Given the description of an element on the screen output the (x, y) to click on. 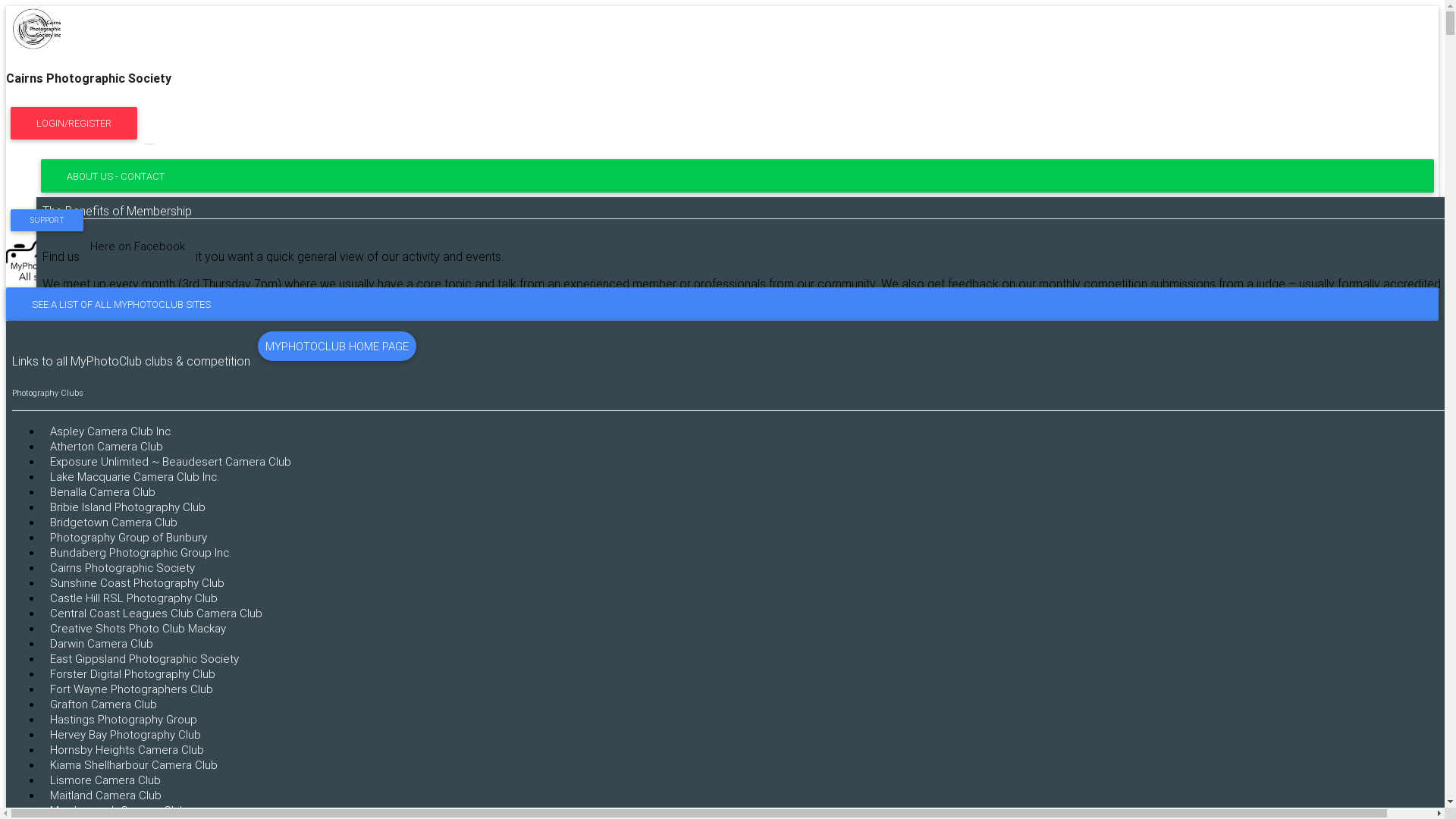
SEE A LIST OF ALL MYPHOTOCLUB SITES Element type: text (722, 279)
email: riamrry@me.com Element type: text (110, 501)
Cairns Photographic Society Element type: text (722, 108)
MYPHOTOCLUB HOME PAGE Element type: text (336, 345)
Maitland Camera Club Element type: text (105, 794)
Fort Wayne Photographers Club Element type: text (131, 688)
Grafton Camera Club Element type: text (103, 703)
Photography Group of Bunbury Element type: text (128, 537)
email: cps2021secretary@gmail.com Element type: text (143, 438)
Forster Digital Photography Club Element type: text (132, 673)
Lismore Camera Club Element type: text (105, 779)
Benalla Camera Club Element type: text (102, 491)
Darwin Camera Club Element type: text (101, 643)
email: corinne.bramwell@gmail.com Element type: text (141, 564)
Bribie Island Photography Club Element type: text (127, 506)
Atherton Camera Club Element type: text (106, 446)
Bundaberg Photographic Group Inc. Element type: text (140, 552)
ABOUT US - CONTACT Element type: text (737, 175)
Lake Macquarie Camera Club Inc. Element type: text (134, 476)
Exposure Unlimited ~ Beaudesert Camera Club Element type: text (170, 461)
Hervey Bay Photography Club Element type: text (125, 734)
Central Coast Leagues Club Camera Club Element type: text (155, 612)
Creative Shots Photo Club Mackay Element type: text (137, 628)
Sunshine Coast Photography Club Element type: text (137, 582)
email: rob.e.mur@gmail.com Element type: text (122, 690)
Bridgetown Camera Club Element type: text (113, 521)
Aspley Camera Club Inc Element type: text (110, 430)
email: cps2021president@gmail.com Element type: text (144, 627)
SUPPORT Element type: text (46, 220)
East Gippsland Photographic Society Element type: text (144, 658)
Hornsby Heights Camera Club Element type: text (126, 749)
LOGIN/REGISTER Element type: text (73, 123)
Cairns Photographic Society Element type: text (122, 567)
Kiama Shellharbour Camera Club Element type: text (133, 764)
Castle Hill RSL Photography Club Element type: text (133, 597)
Hastings Photography Group Element type: text (123, 719)
Membership Form 2023 Element type: text (69, 397)
Here on Facebook Element type: text (137, 245)
Set your login to join here Element type: text (73, 452)
